Given the description of an element on the screen output the (x, y) to click on. 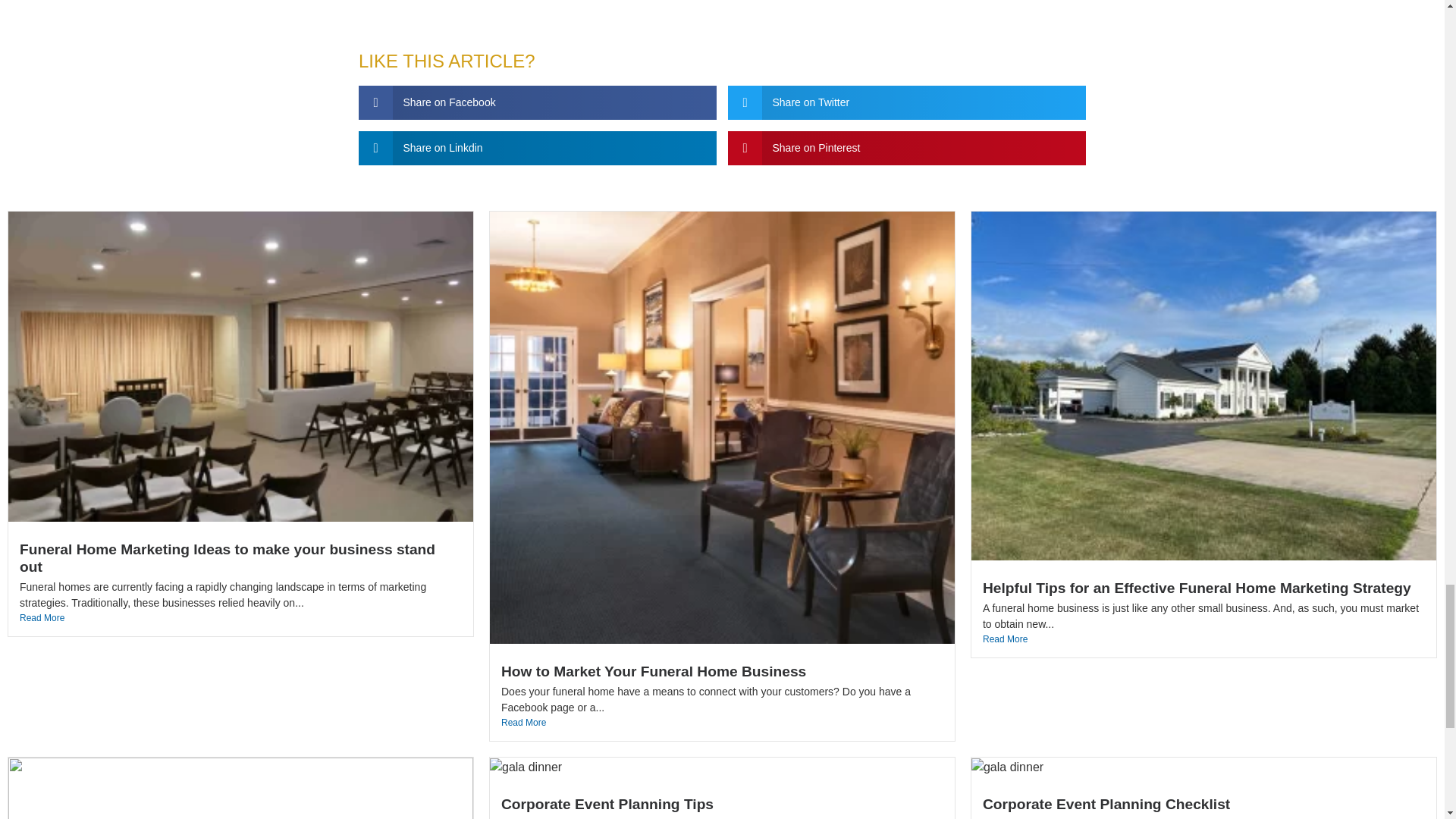
How to Market Your Funeral Home Business (653, 671)
Corporate Event Planning Checklist (1106, 804)
Funeral Home Marketing Ideas to make your business stand out (227, 557)
Corporate Event Planning Tips (606, 804)
